Given the description of an element on the screen output the (x, y) to click on. 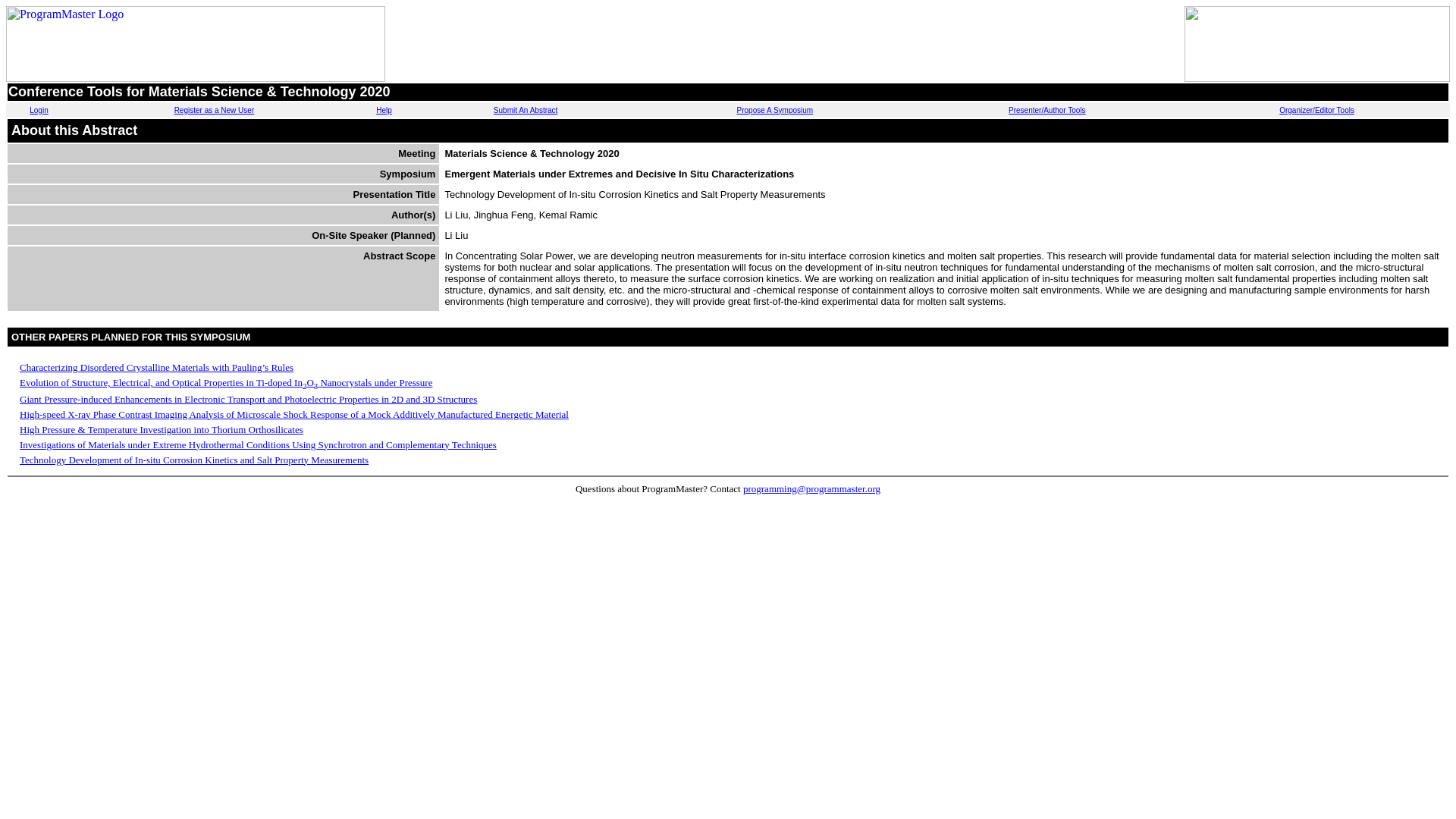
Register as a New User (214, 110)
Submit An Abstract (525, 110)
Help (383, 110)
Login (38, 110)
Propose A Symposium (774, 110)
